Given the description of an element on the screen output the (x, y) to click on. 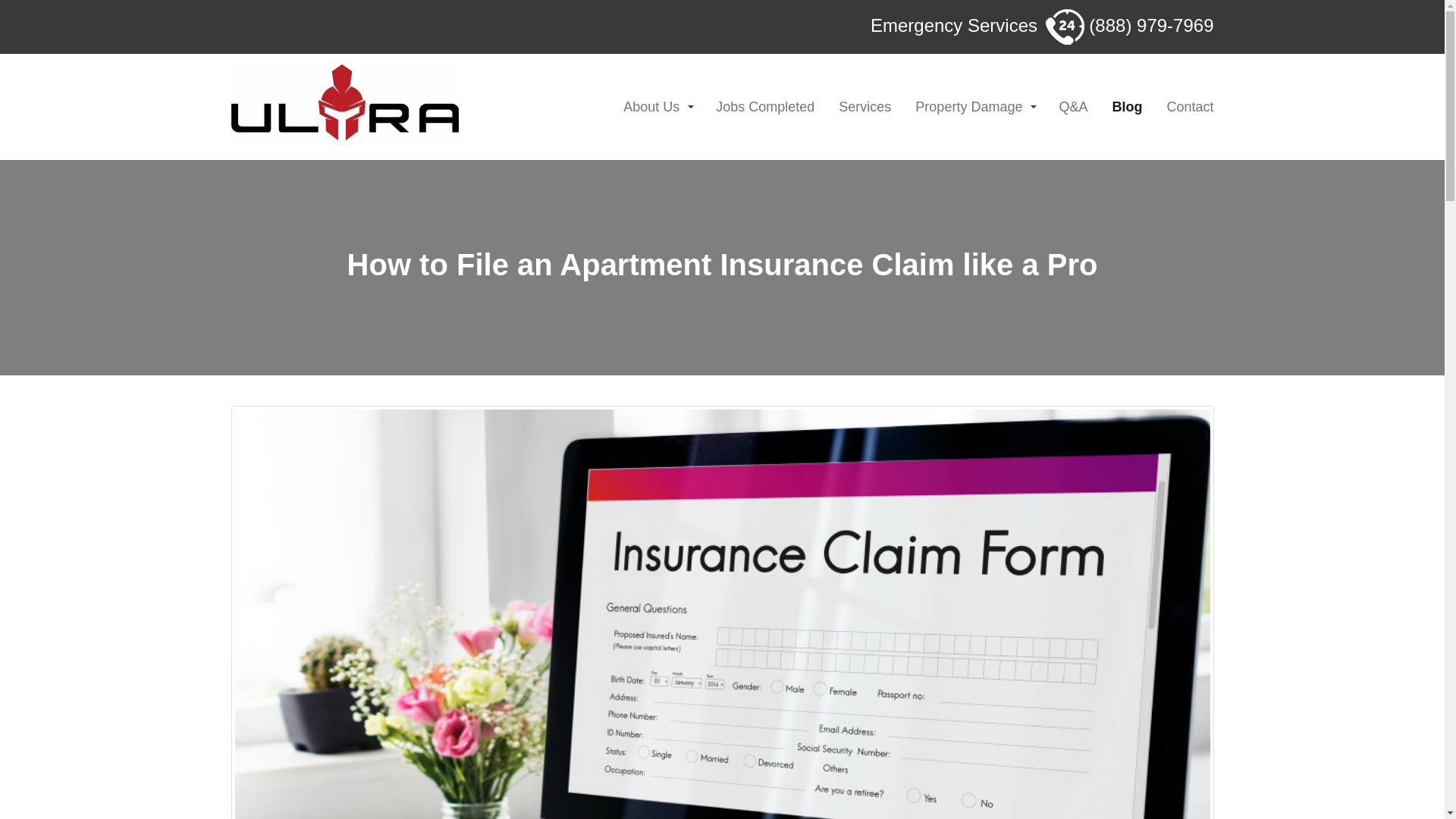
Property Damage (974, 106)
Blog (1126, 106)
Property Damage (974, 106)
Contact (1186, 106)
Blog (1126, 106)
Contact (1186, 106)
Services (864, 106)
About Us (657, 106)
Services (864, 106)
Jobs Completed (765, 106)
